Given the description of an element on the screen output the (x, y) to click on. 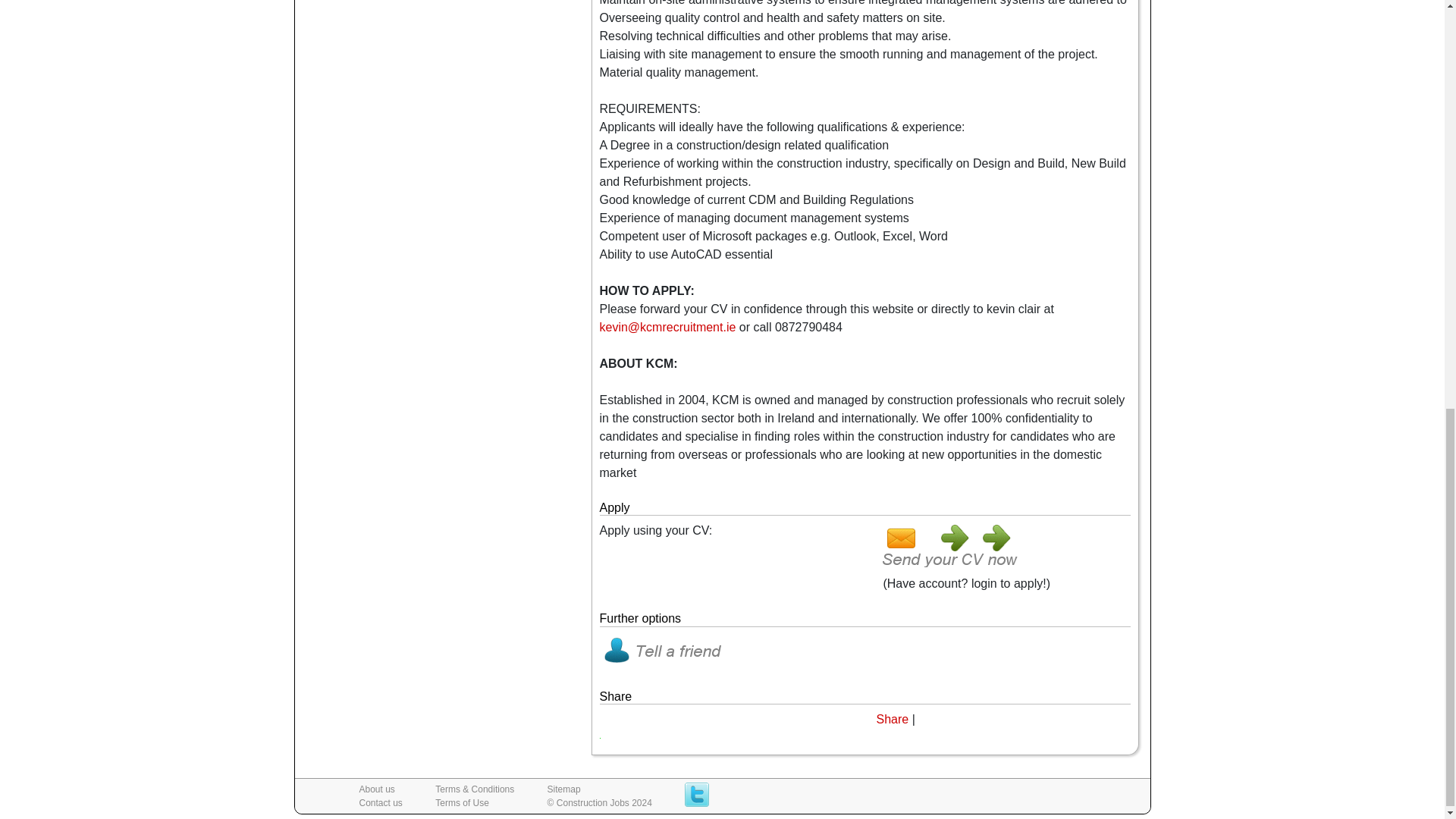
Share (892, 718)
